Given the description of an element on the screen output the (x, y) to click on. 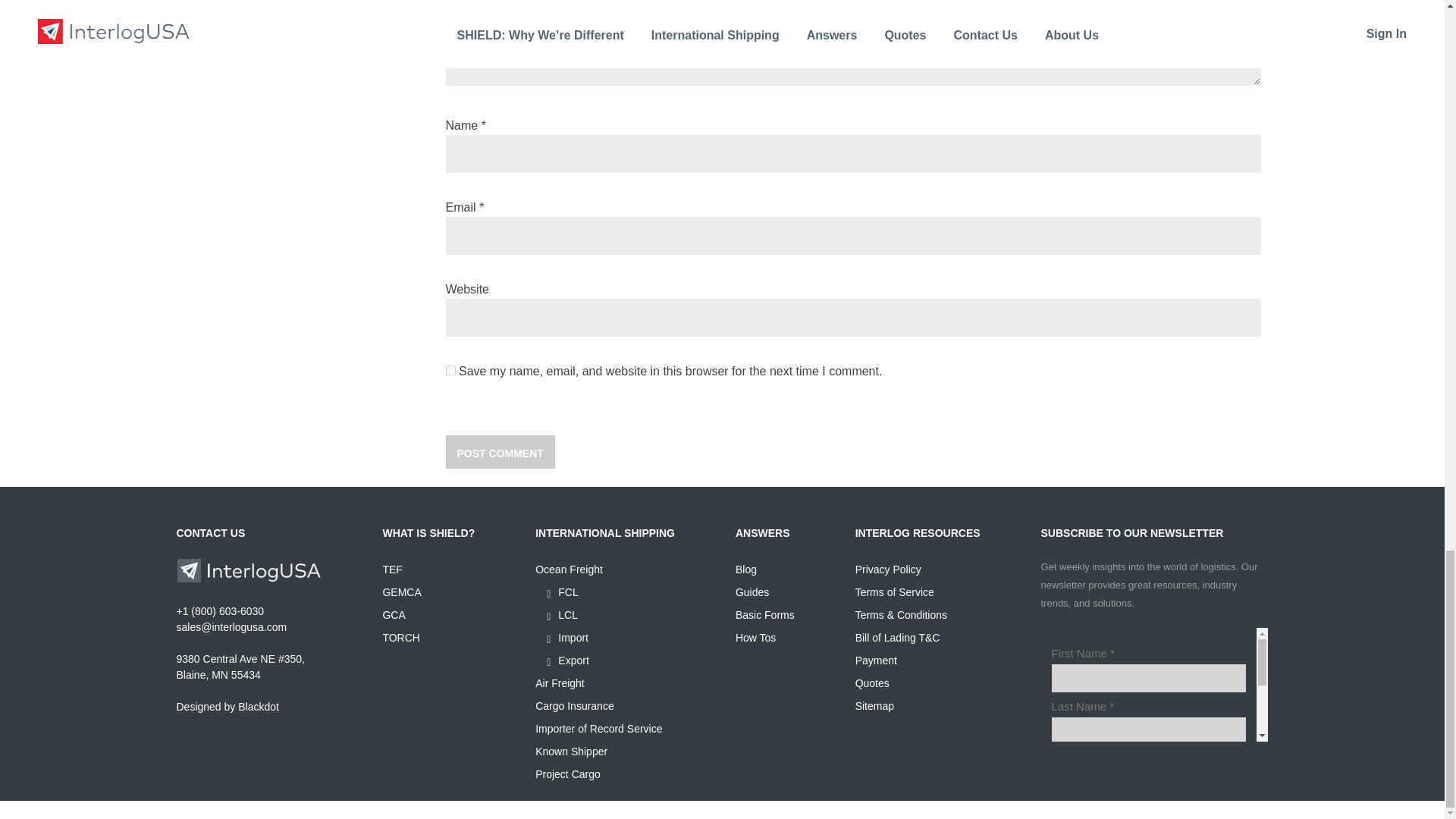
Blackdot (258, 706)
Post Comment (499, 451)
yes (450, 370)
